Given the description of an element on the screen output the (x, y) to click on. 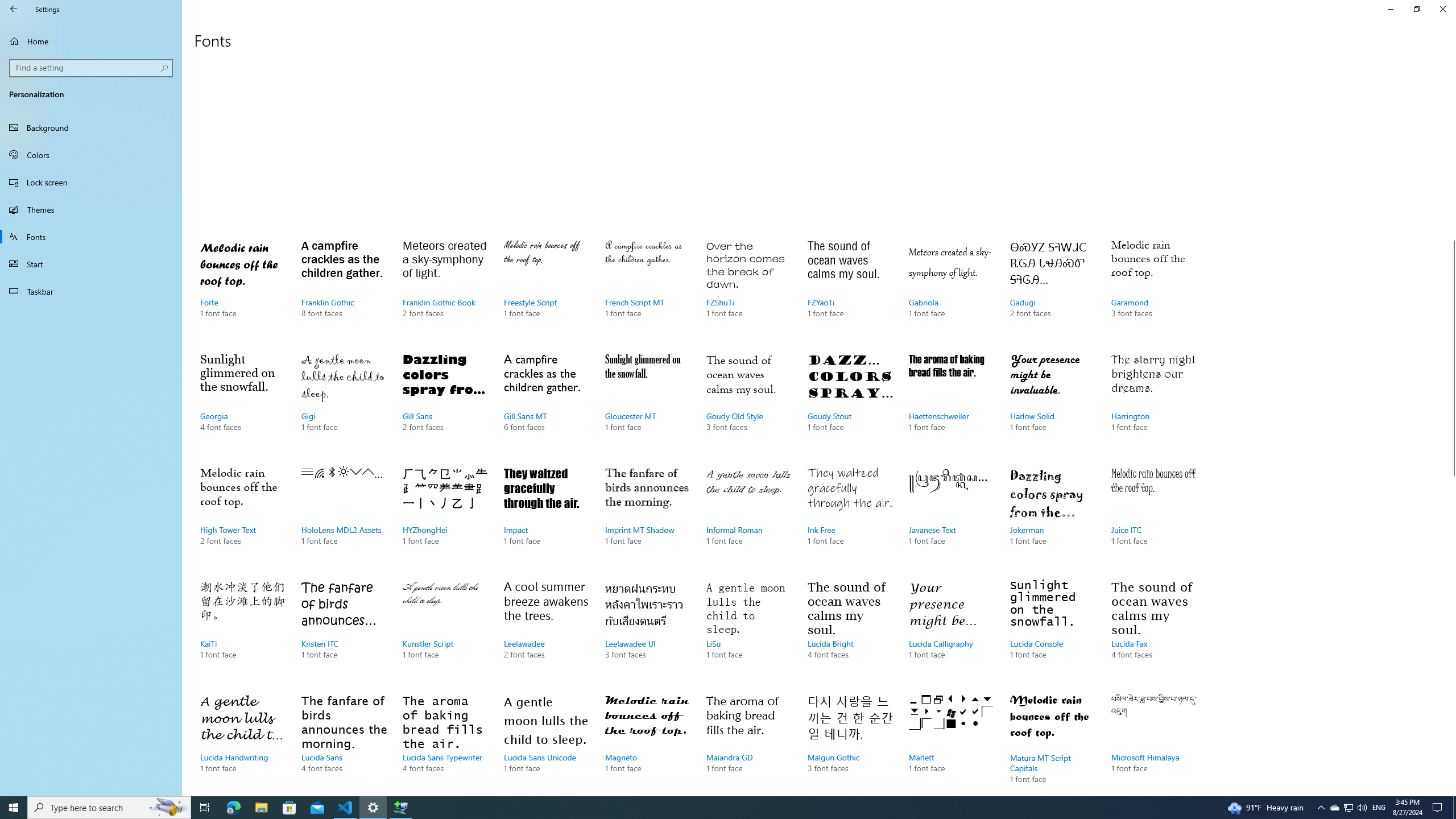
Themes (91, 208)
Magneto, 1 font face (647, 741)
Goudy Stout, 1 font face (850, 403)
Lucida Sans, 4 font faces (343, 741)
HoloLens MDL2 Assets, 1 font face (343, 517)
Leelawadee, 2 font faces (545, 630)
Home (91, 40)
User Promoted Notification Area (1347, 807)
Haettenschweiler, 1 font face (951, 403)
Vertical (1451, 425)
Gill Sans MT, 6 font faces (545, 403)
Extensible Wizards Host Process - 1 running window (400, 807)
Matura MT Script Capitals, 1 font face (1052, 741)
FZYaoTi, 1 font face (850, 290)
Gill Sans, 2 font faces (445, 403)
